Given the description of an element on the screen output the (x, y) to click on. 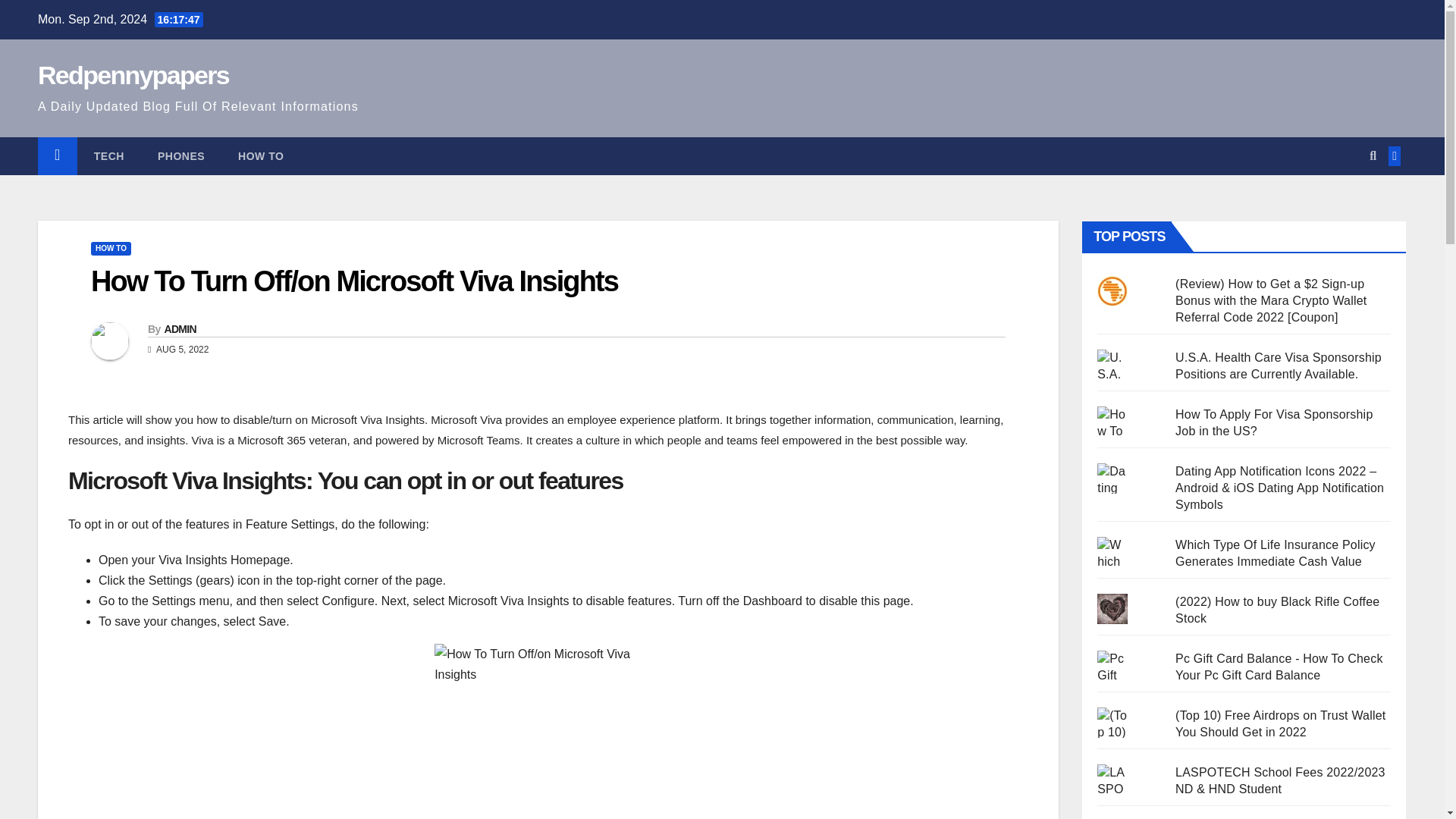
ADMIN (179, 328)
How To (260, 156)
PHONES (181, 156)
Phones (181, 156)
How To Apply For Visa Sponsorship Job in the US? (1273, 422)
HOW TO (110, 248)
Redpennypapers (132, 74)
HOW TO (260, 156)
TECH (109, 156)
